Given the description of an element on the screen output the (x, y) to click on. 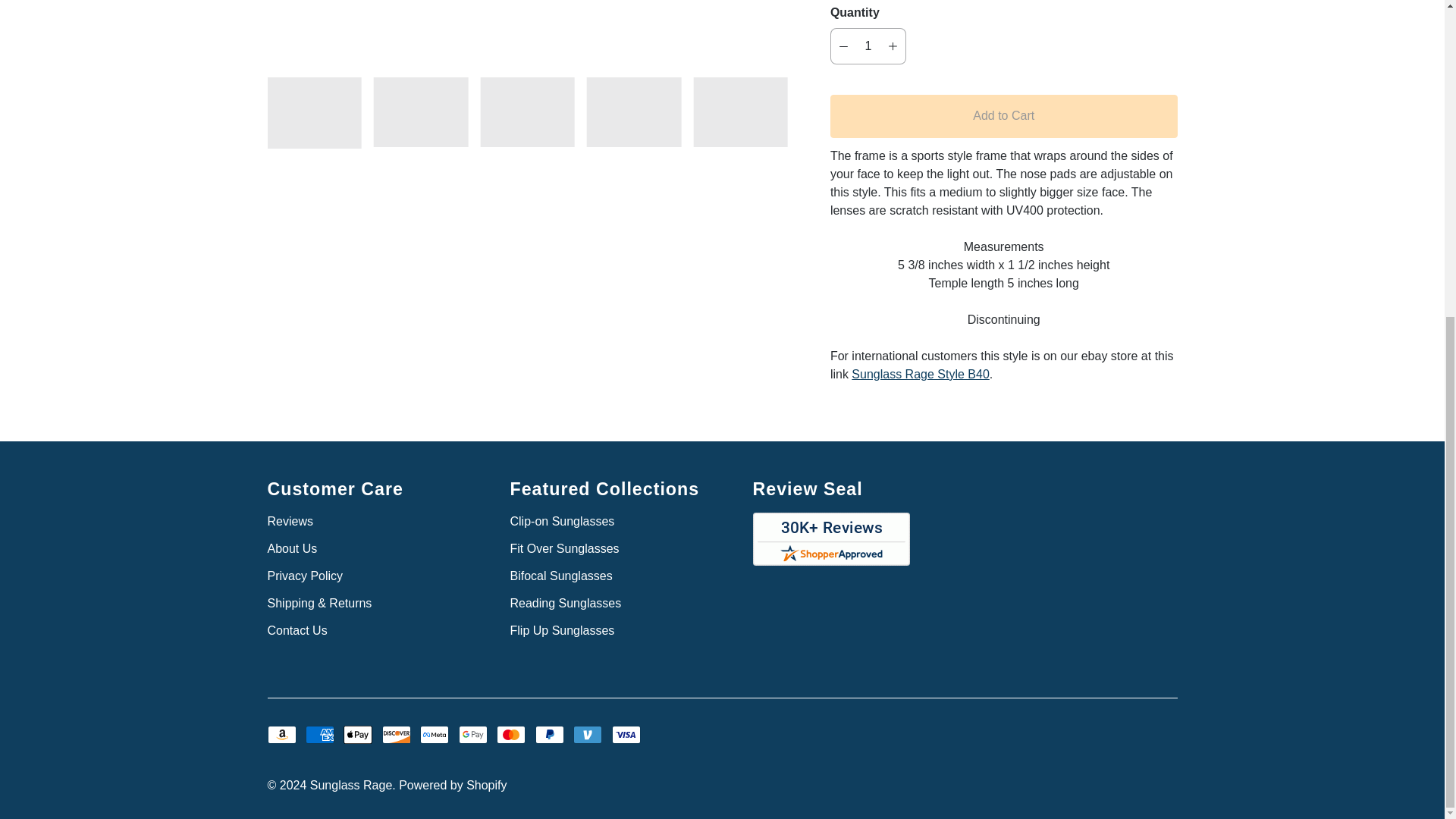
American Express (319, 734)
Meta Pay (434, 734)
Mastercard (510, 734)
Visa (625, 734)
Discover (395, 734)
Apple Pay (357, 734)
Amazon (280, 734)
Venmo (587, 734)
PayPal (549, 734)
Google Pay (472, 734)
